Given the description of an element on the screen output the (x, y) to click on. 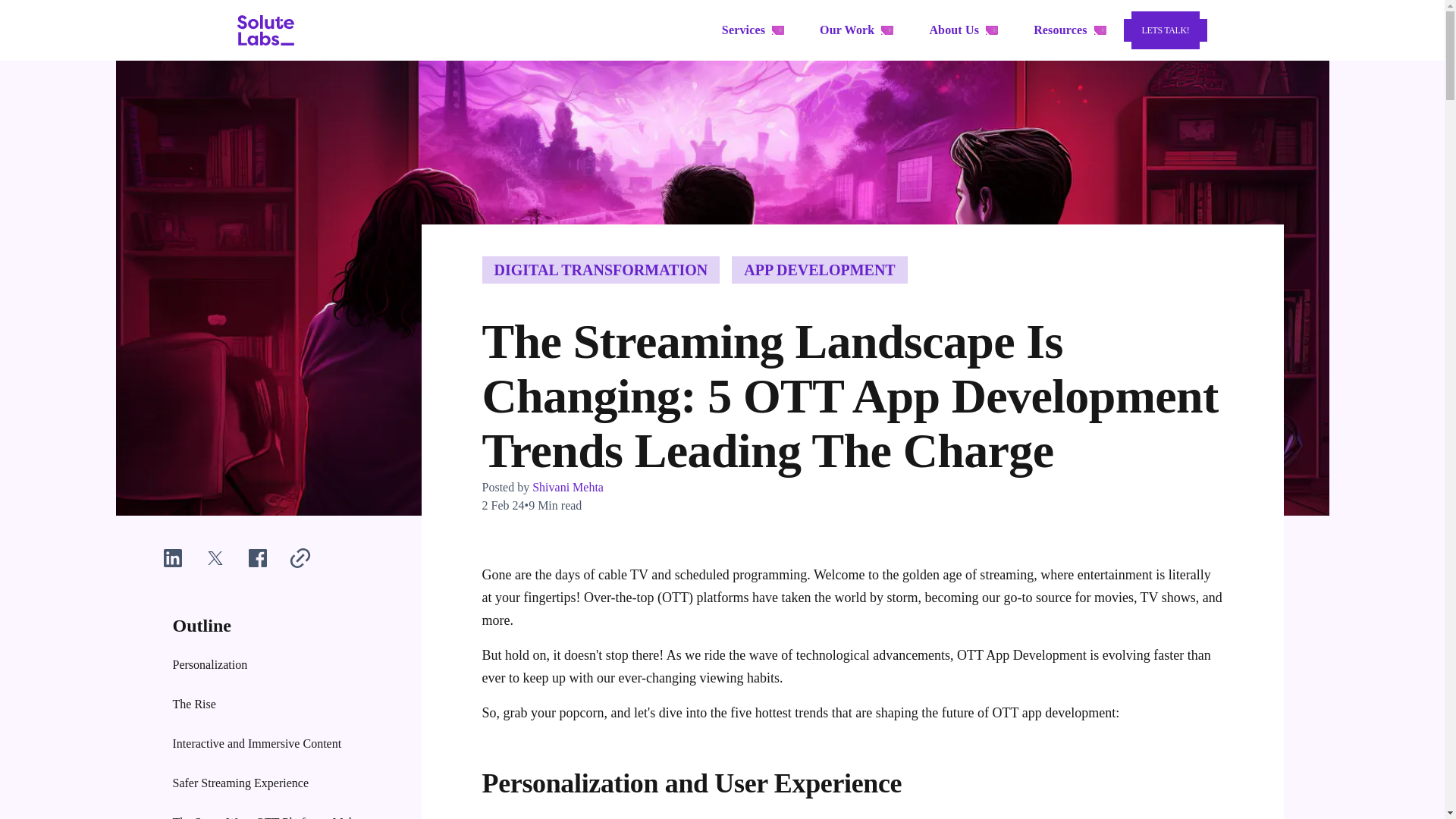
Shivani Mehta (566, 486)
Safer Streaming Experience (275, 783)
LETS TALK! (1166, 30)
Personalization (275, 665)
Interactive and Immersive Content (275, 743)
The Rise (275, 704)
APP DEVELOPMENT (819, 269)
DIGITAL TRANSFORMATION (600, 269)
The Smart Ways OTT Platforms Make Money (275, 813)
